Given the description of an element on the screen output the (x, y) to click on. 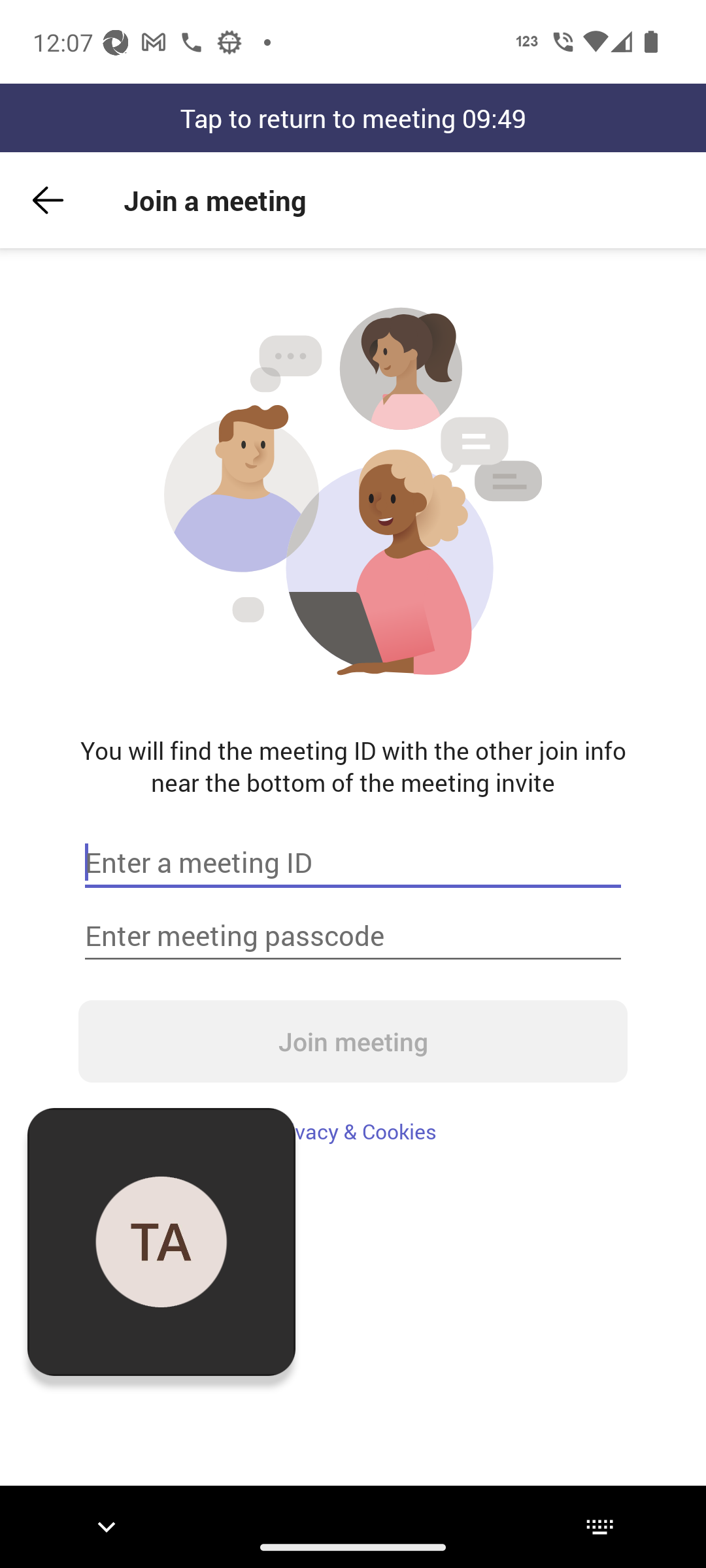
Tap to return to meeting 09:49 (353, 117)
Back (48, 199)
Enter a meeting ID (352, 863)
Enter meeting passcode (352, 936)
Join meeting (352, 1040)
